Given the description of an element on the screen output the (x, y) to click on. 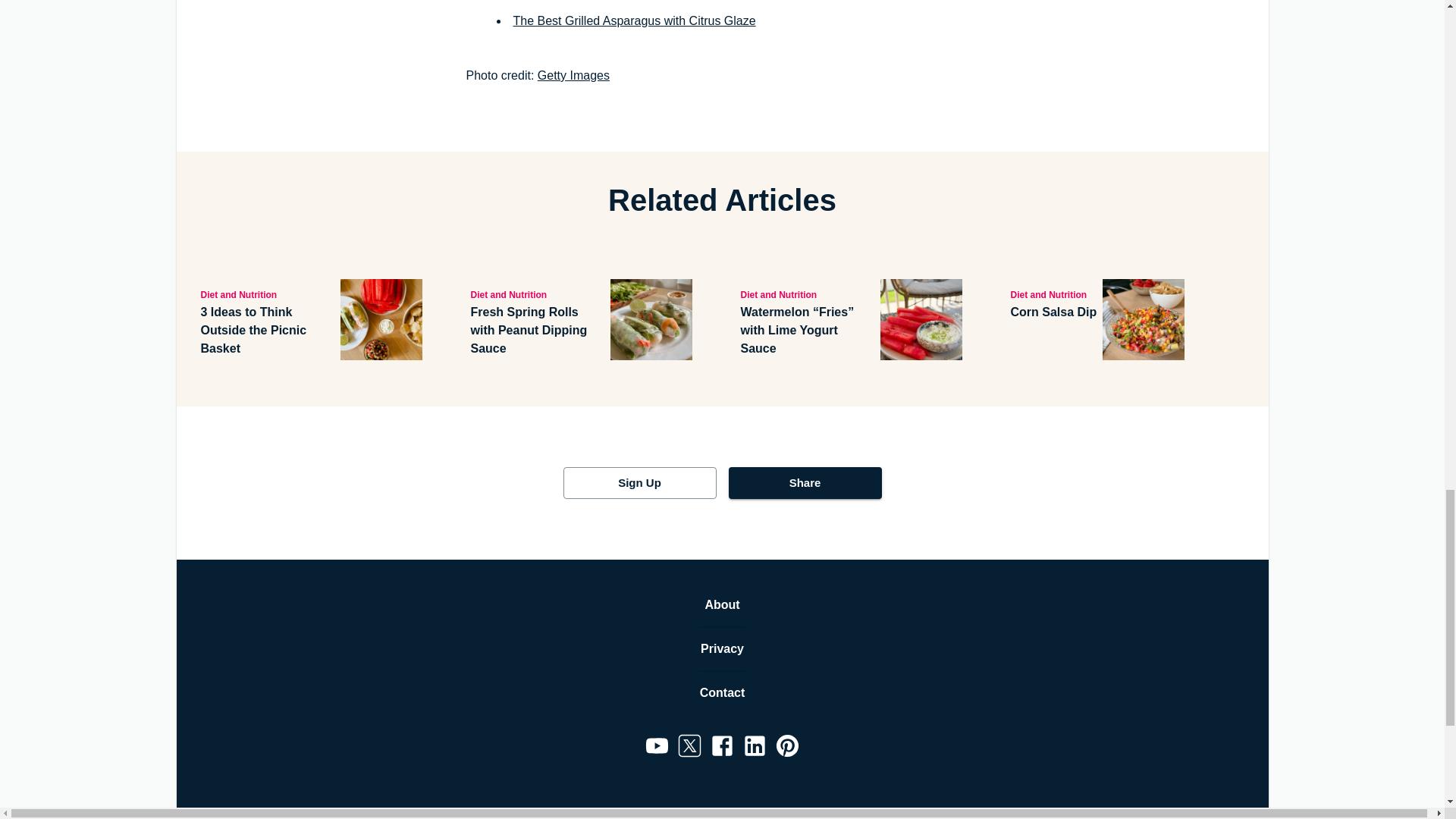
Getty Images (573, 74)
Contact (722, 692)
The Best Grilled Asparagus with Citrus Glaze (633, 20)
Privacy (722, 648)
About (721, 605)
Share (804, 482)
3 Ideas to Think Outside the Picnic Basket (267, 330)
Diet and Nutrition (537, 294)
Diet and Nutrition (267, 294)
Fresh Spring Rolls with Peanut Dipping Sauce (537, 330)
Diet and Nutrition (807, 294)
Corn Salsa Dip (1053, 312)
Sign Up (639, 482)
Diet and Nutrition (1053, 294)
